Given the description of an element on the screen output the (x, y) to click on. 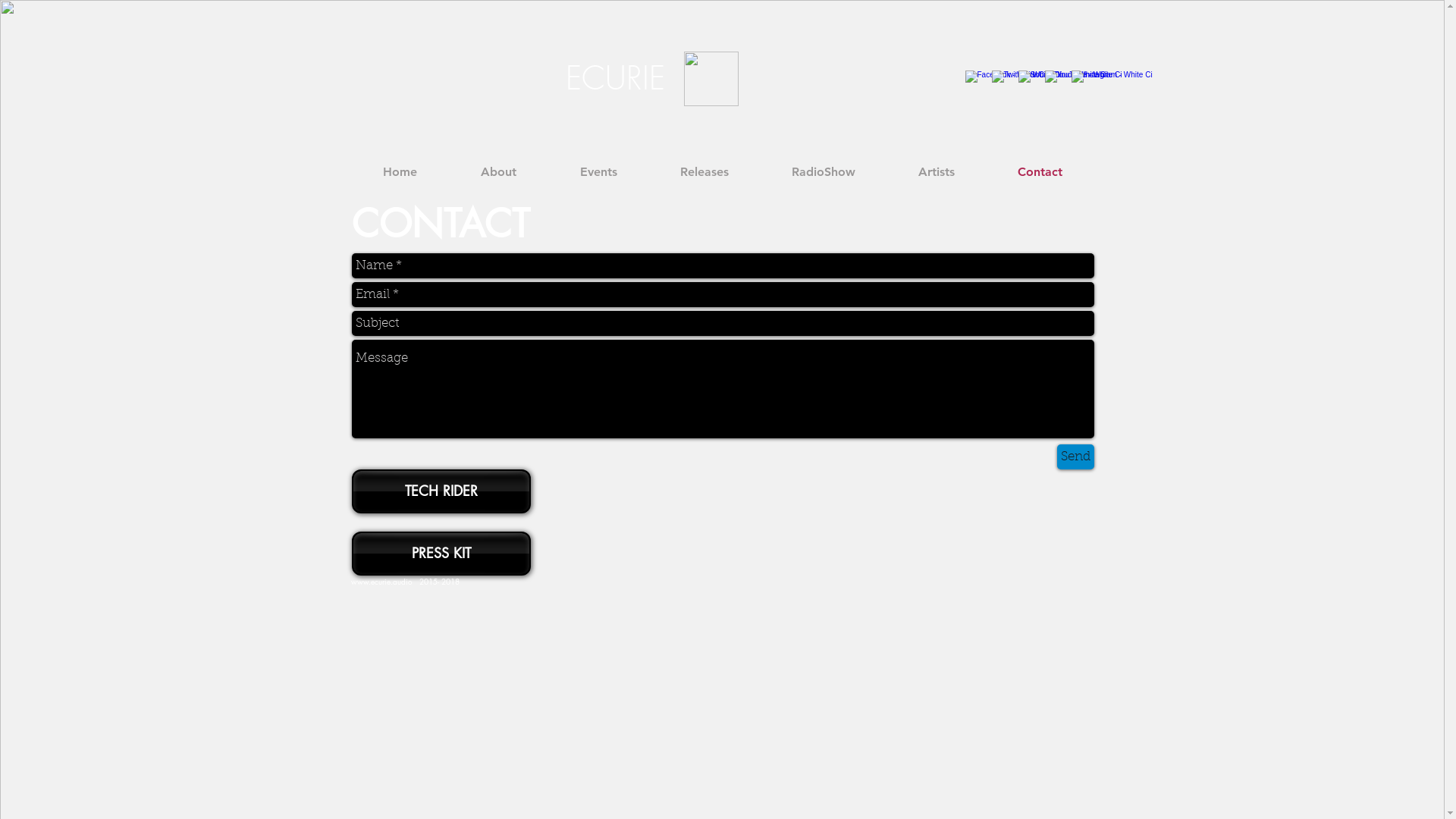
RadioShow Element type: text (822, 171)
PRESS KIT Element type: text (440, 553)
www.ecurie.audio Element type: text (380, 580)
Contact Element type: text (1039, 171)
Send Element type: text (1075, 456)
About Element type: text (498, 171)
Releases Element type: text (704, 171)
Artists Element type: text (936, 171)
Home Element type: text (399, 171)
Events Element type: text (597, 171)
TECH RIDER Element type: text (440, 491)
